Given the description of an element on the screen output the (x, y) to click on. 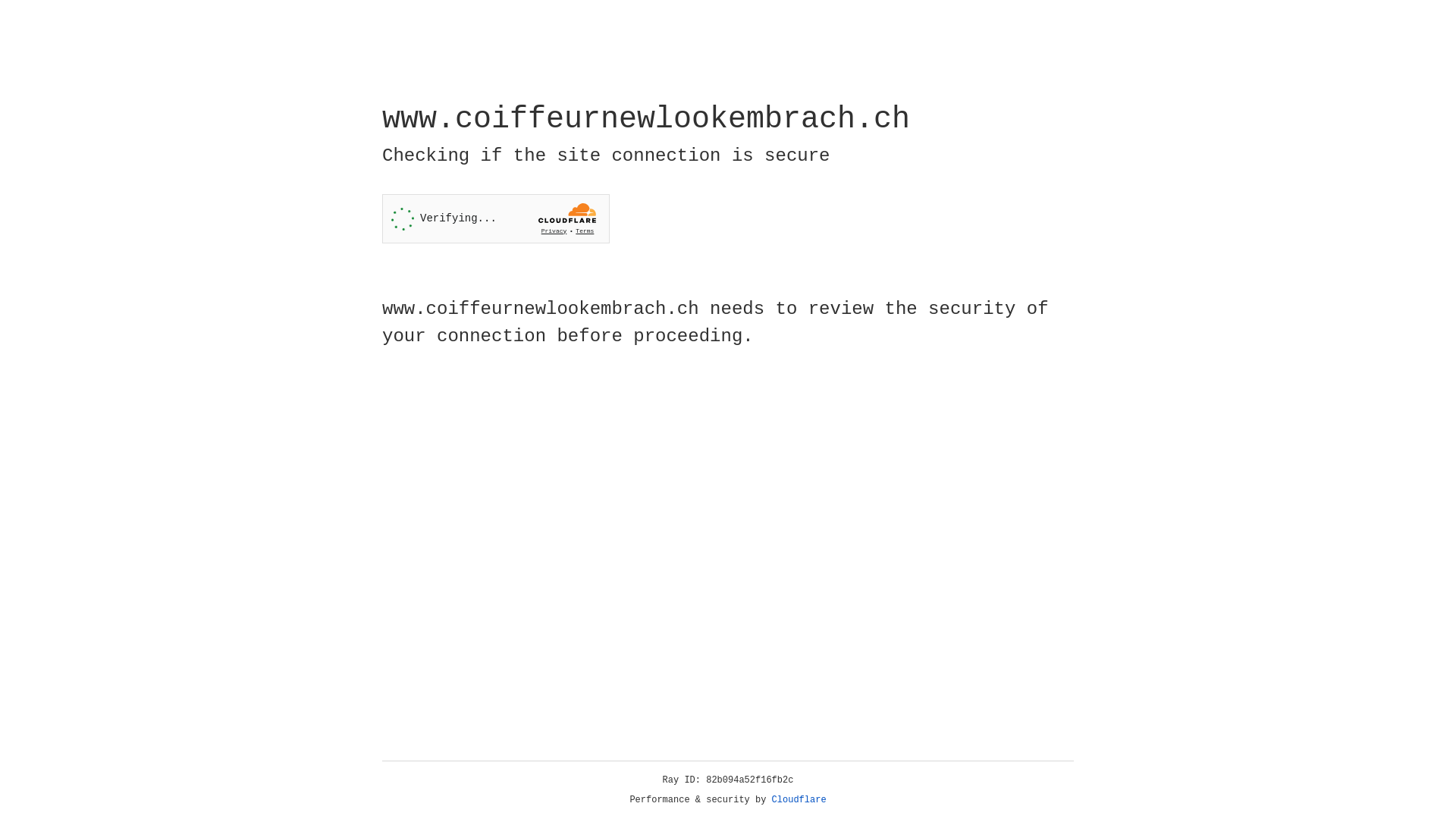
Cloudflare Element type: text (798, 799)
Widget containing a Cloudflare security challenge Element type: hover (495, 218)
